Given the description of an element on the screen output the (x, y) to click on. 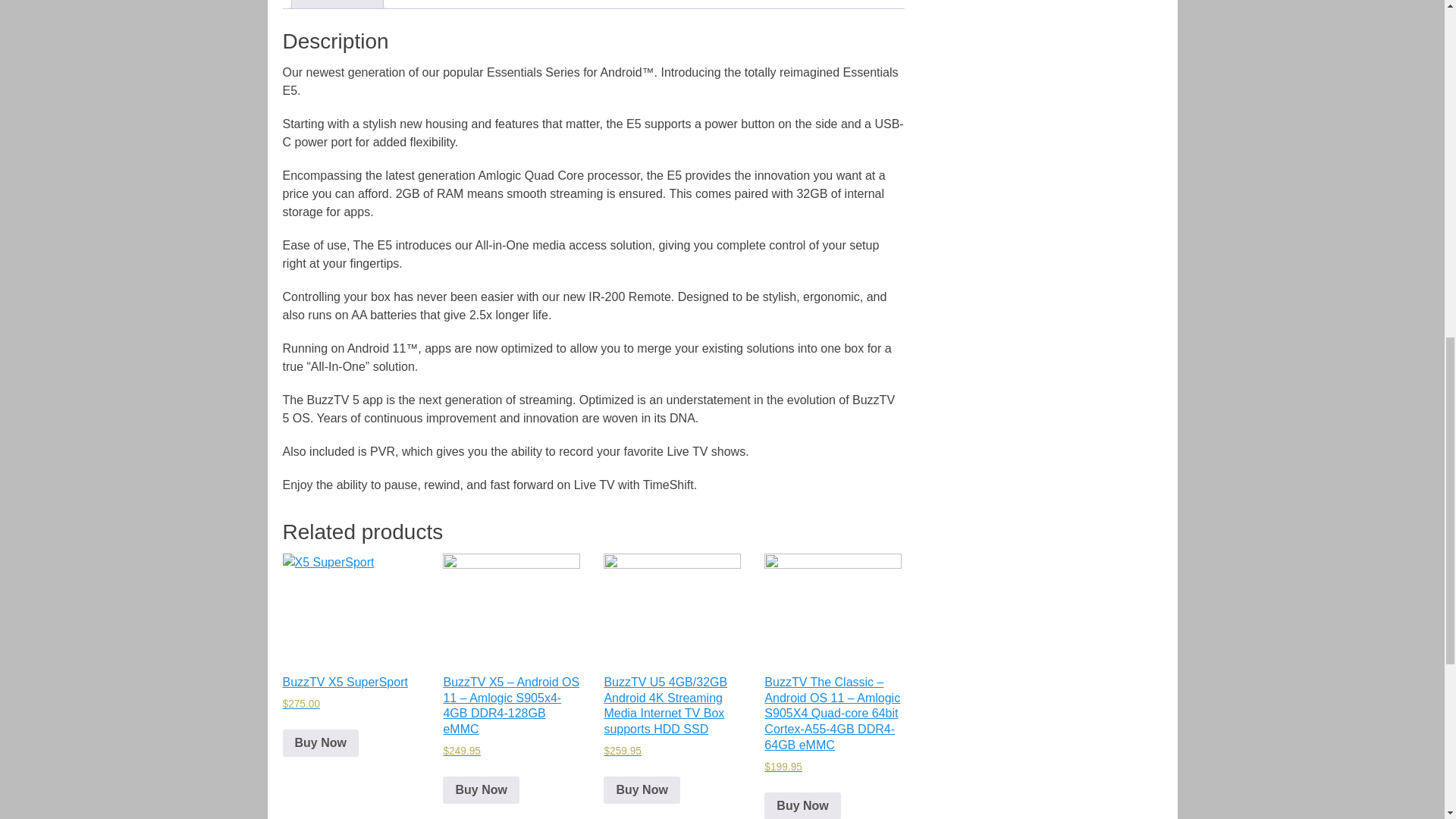
Buy Now (641, 789)
Buy Now (480, 789)
Description (335, 3)
Buy Now (320, 742)
